Given the description of an element on the screen output the (x, y) to click on. 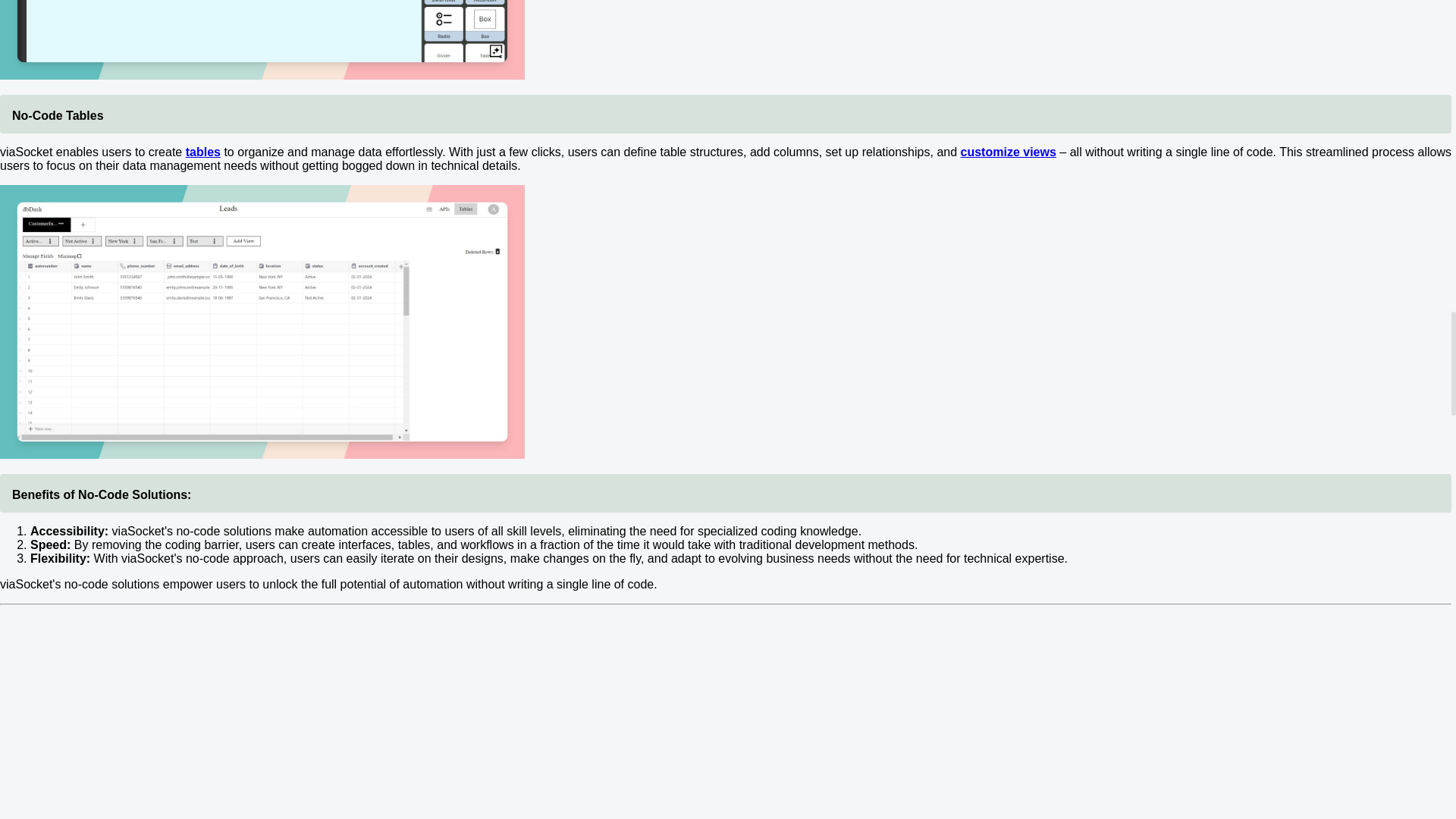
tables (203, 151)
customize views (1008, 151)
